Given the description of an element on the screen output the (x, y) to click on. 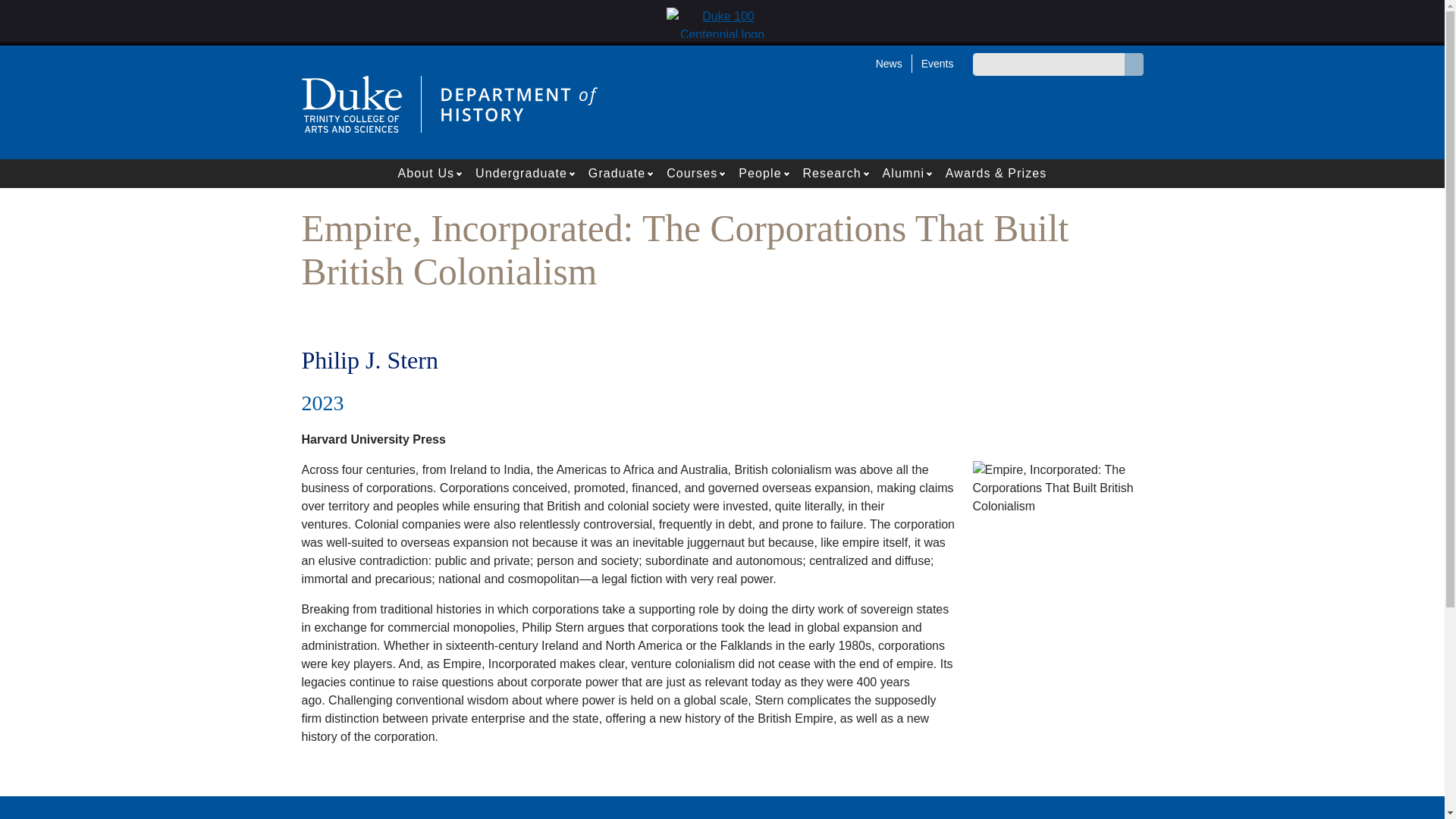
Events (932, 63)
Open About Us submenu (459, 173)
Graduate (612, 173)
Open Graduate submenu (652, 173)
About Us (421, 173)
Duke University - Trinity College of Arts and Sciences (351, 103)
News (888, 63)
Search (1131, 64)
Open Undergraduate submenu (573, 173)
Open Courses submenu (723, 173)
